Given the description of an element on the screen output the (x, y) to click on. 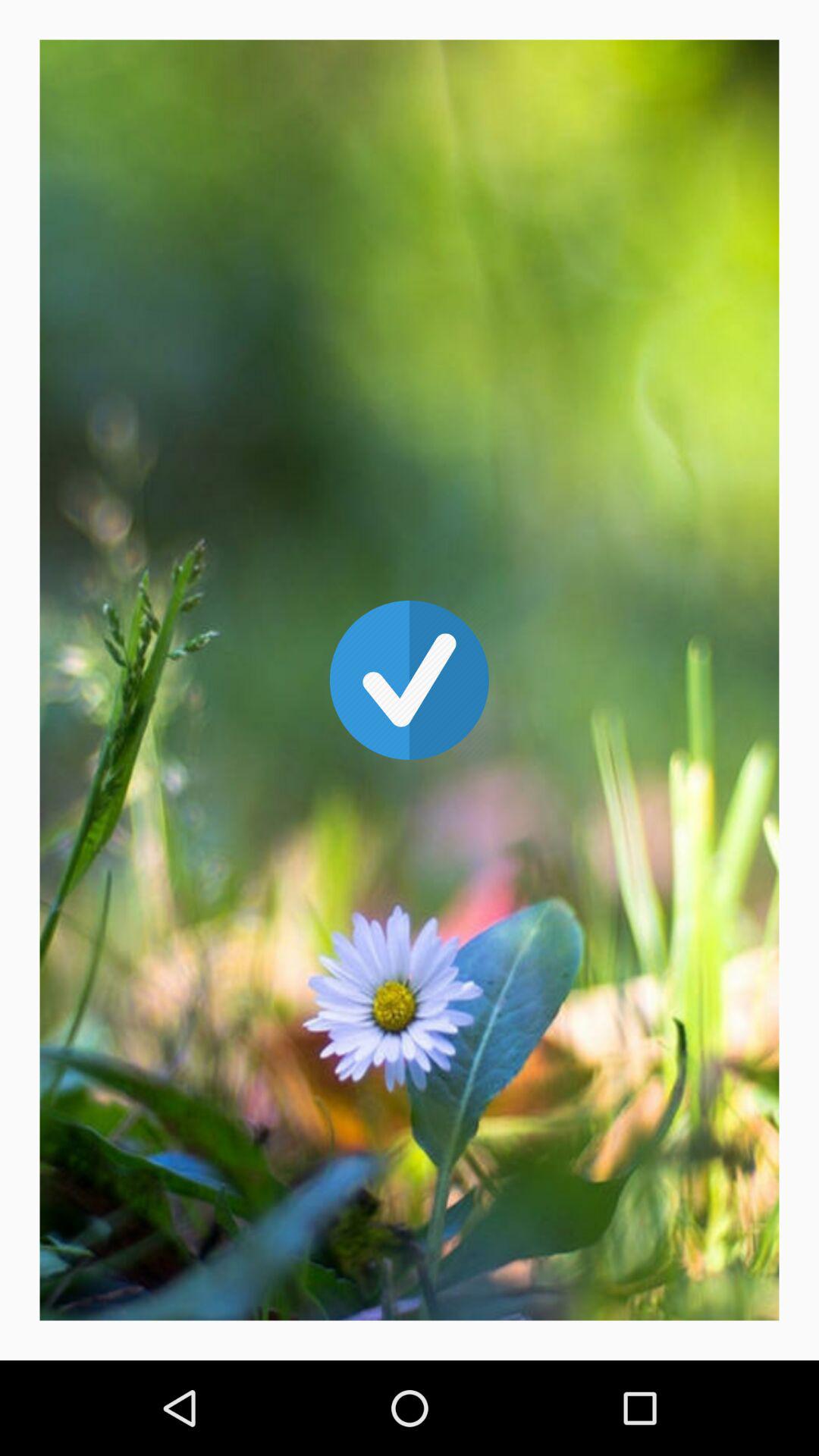
select photo (409, 679)
